Given the description of an element on the screen output the (x, y) to click on. 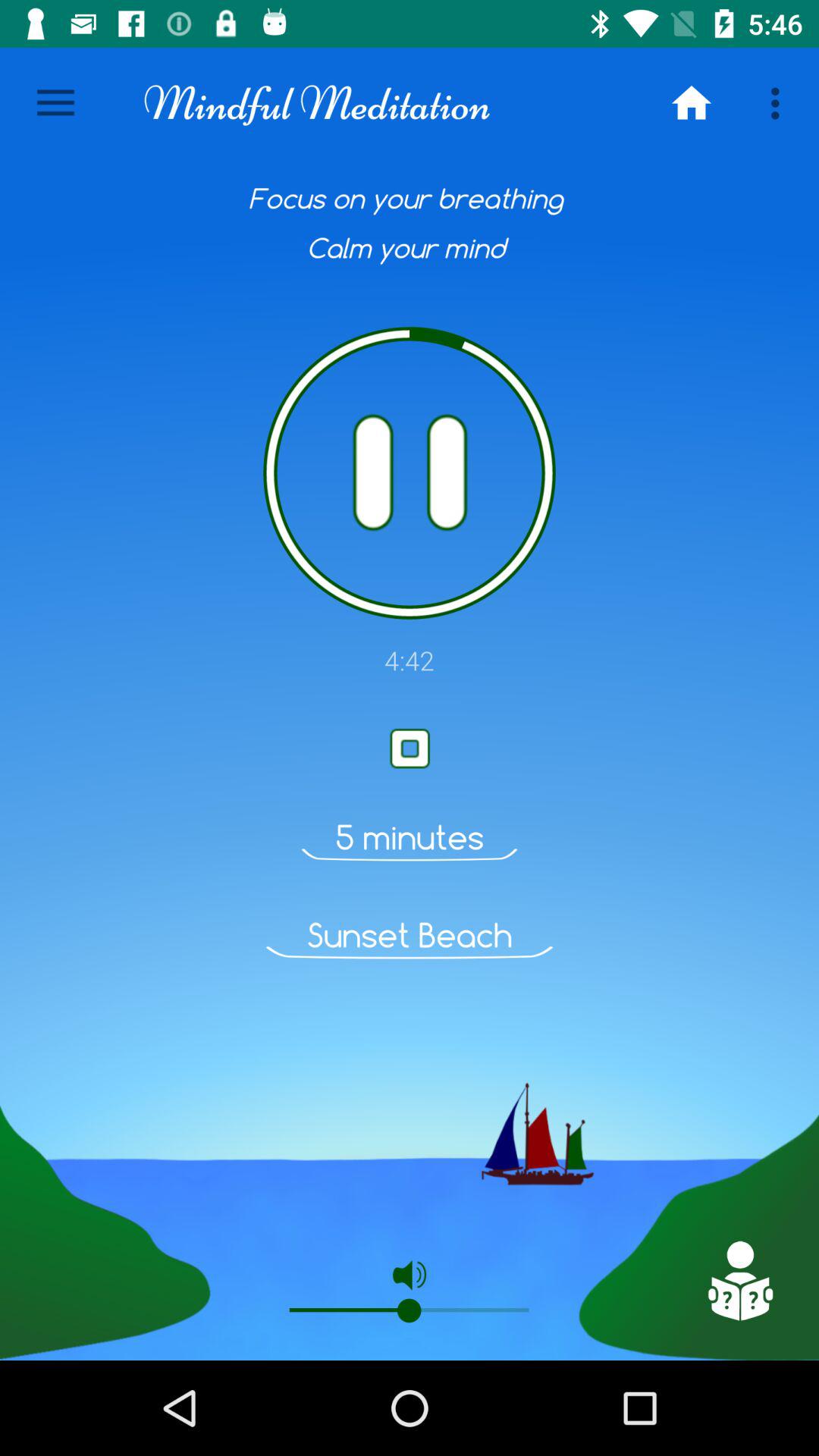
paly button (409, 748)
